Given the description of an element on the screen output the (x, y) to click on. 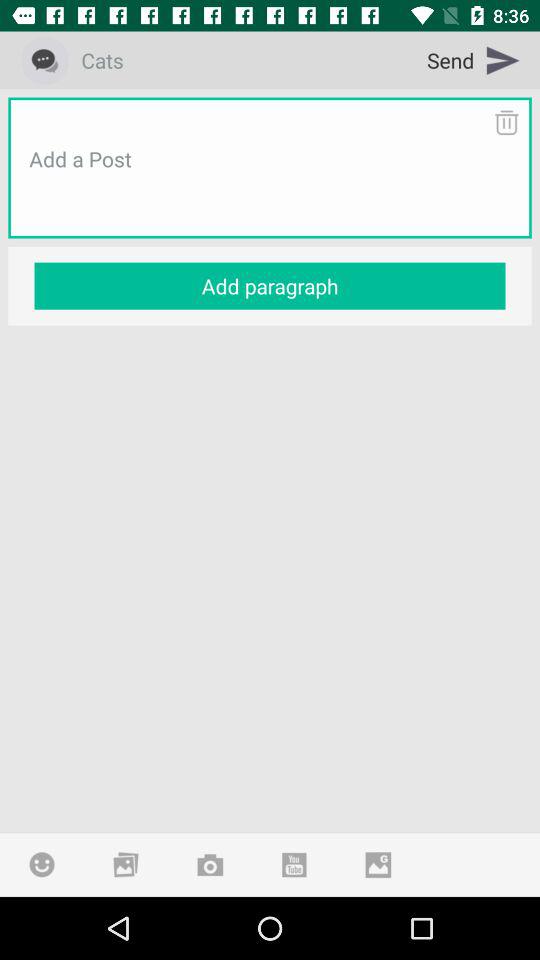
go to the emoji section (42, 864)
